Given the description of an element on the screen output the (x, y) to click on. 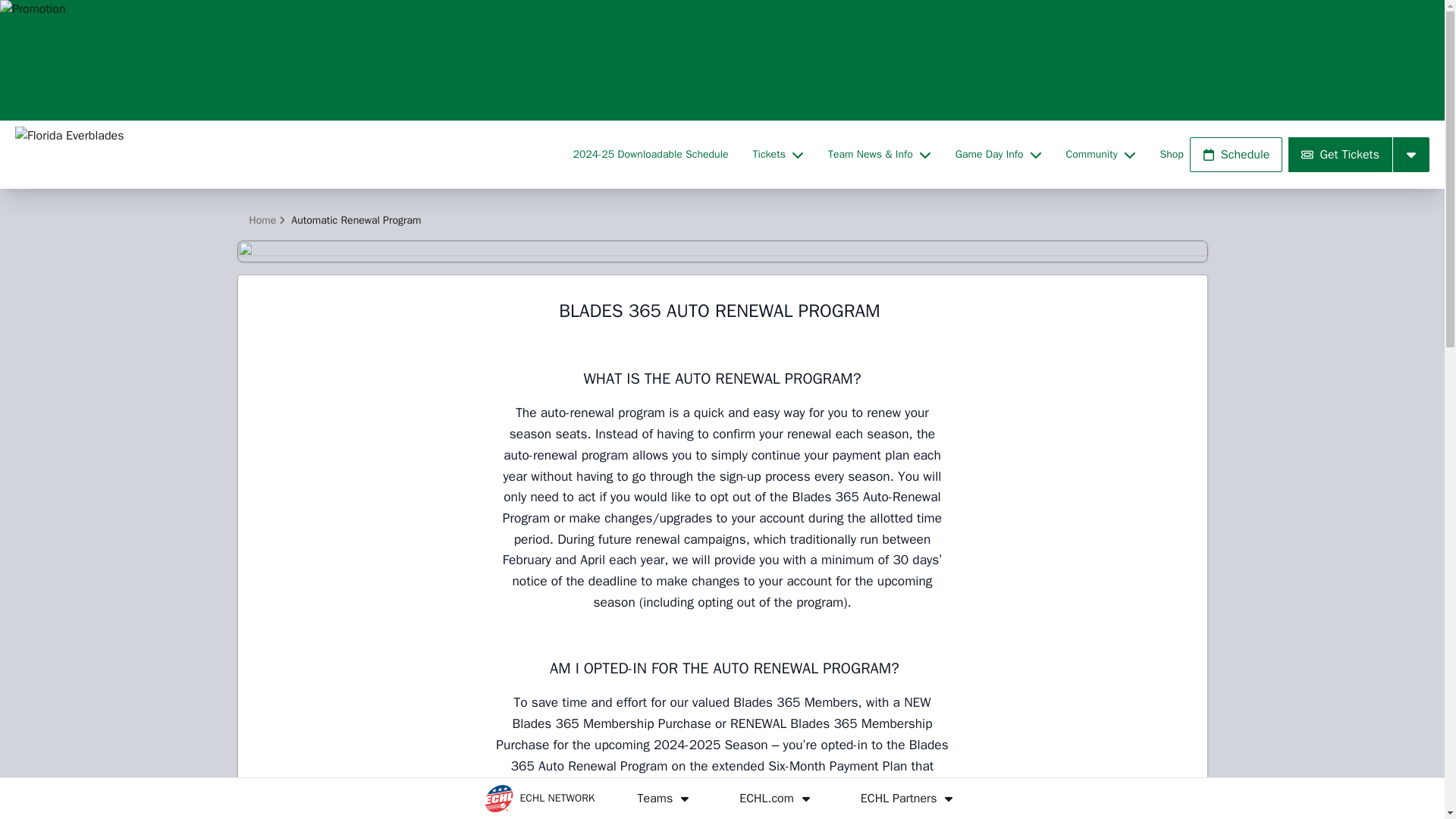
Tickets (777, 154)
Florida Everblades (284, 154)
Community (1100, 154)
Game Day Info (998, 154)
2024-25 Downloadable Schedule (651, 154)
